Given the description of an element on the screen output the (x, y) to click on. 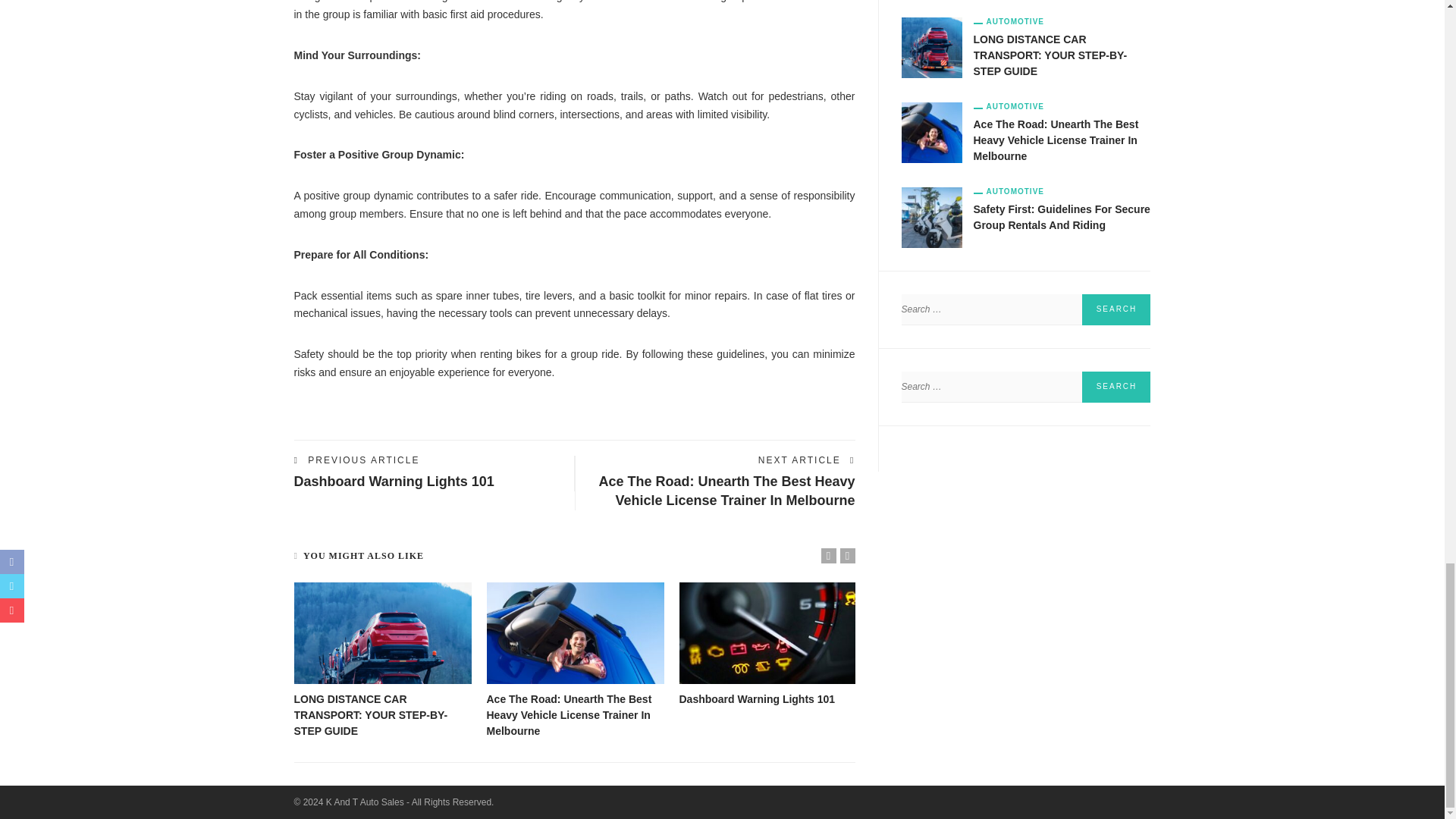
Search (1115, 386)
Search (1115, 309)
Dashboard Warning Lights 101 (394, 481)
Search (1115, 386)
Search (1115, 309)
Dashboard Warning Lights 101 (394, 481)
LONG DISTANCE CAR TRANSPORT: YOUR STEP-BY-STEP GUIDE (382, 632)
